Given the description of an element on the screen output the (x, y) to click on. 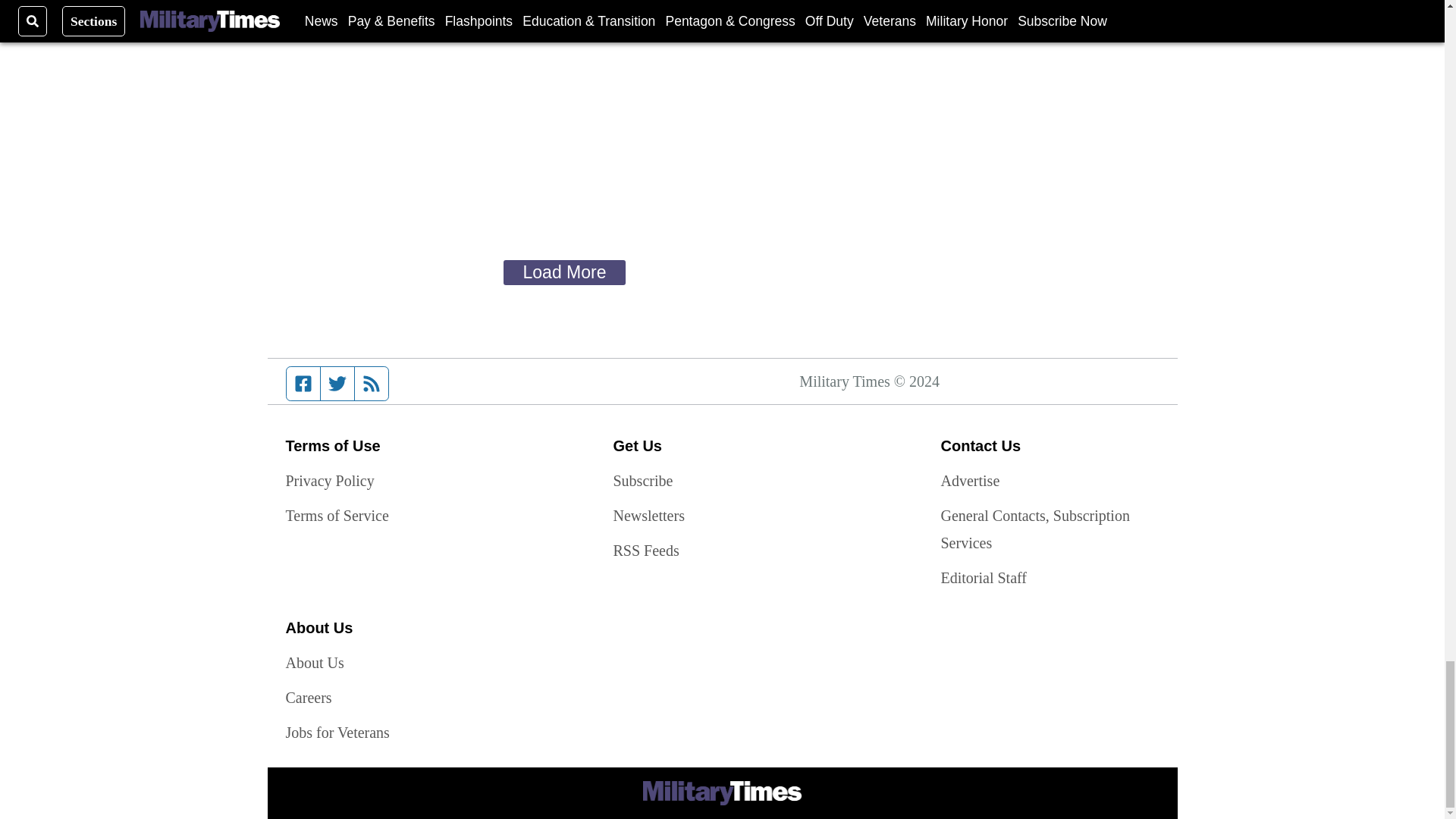
Twitter feed (336, 383)
RSS feed (371, 383)
Facebook page (303, 383)
